Given the description of an element on the screen output the (x, y) to click on. 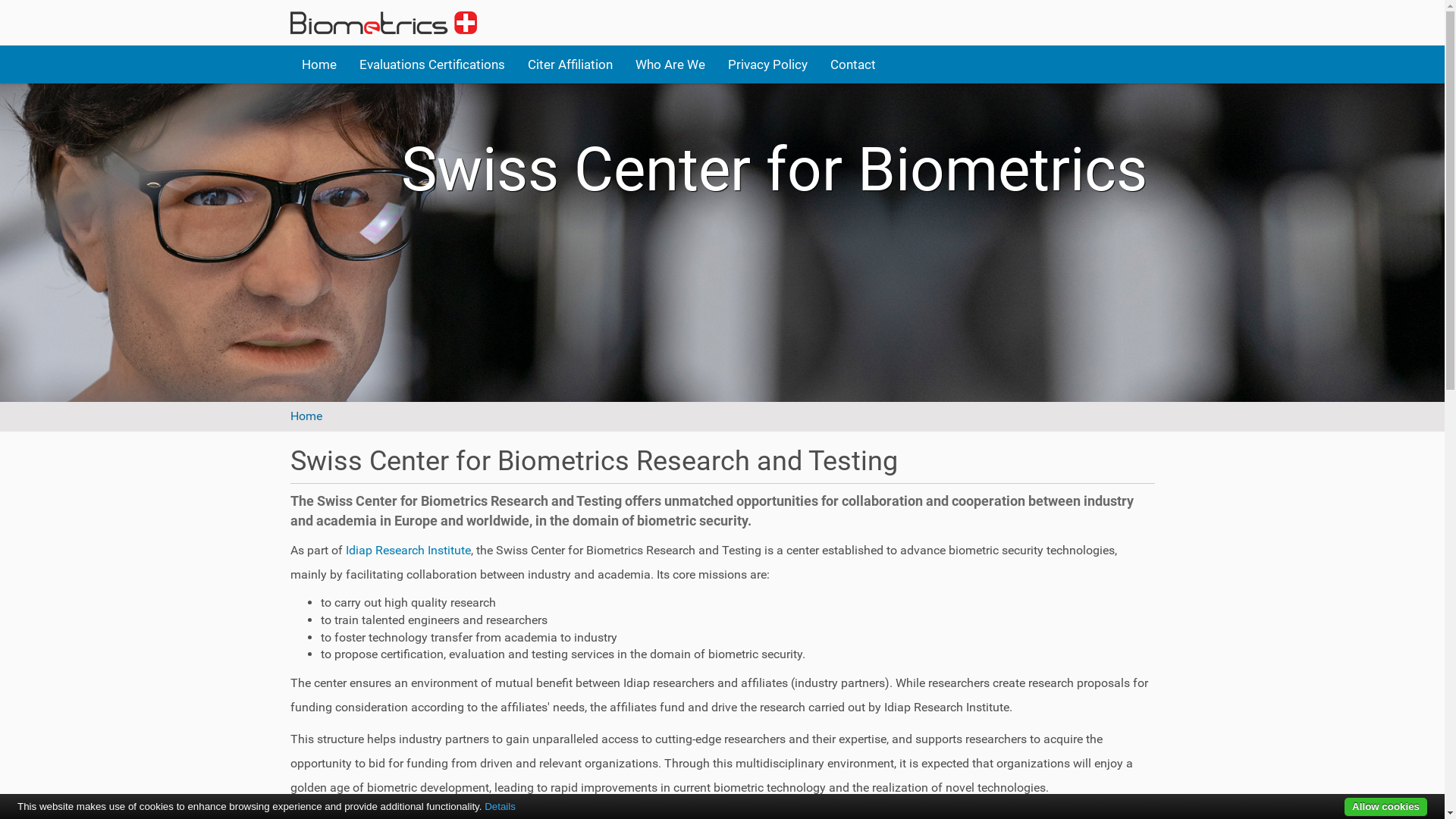
Contact Element type: text (853, 64)
Home Element type: text (305, 415)
Evaluations Certifications Element type: text (431, 64)
Allow cookies Element type: text (1385, 806)
biometrics-center.ch Element type: hover (382, 22)
Citer Affiliation Element type: text (569, 64)
Privacy Policy Element type: text (766, 64)
Details Element type: text (499, 806)
Home Element type: text (318, 64)
Idiap Research Institute Element type: text (406, 549)
Who Are We Element type: text (669, 64)
